Given the description of an element on the screen output the (x, y) to click on. 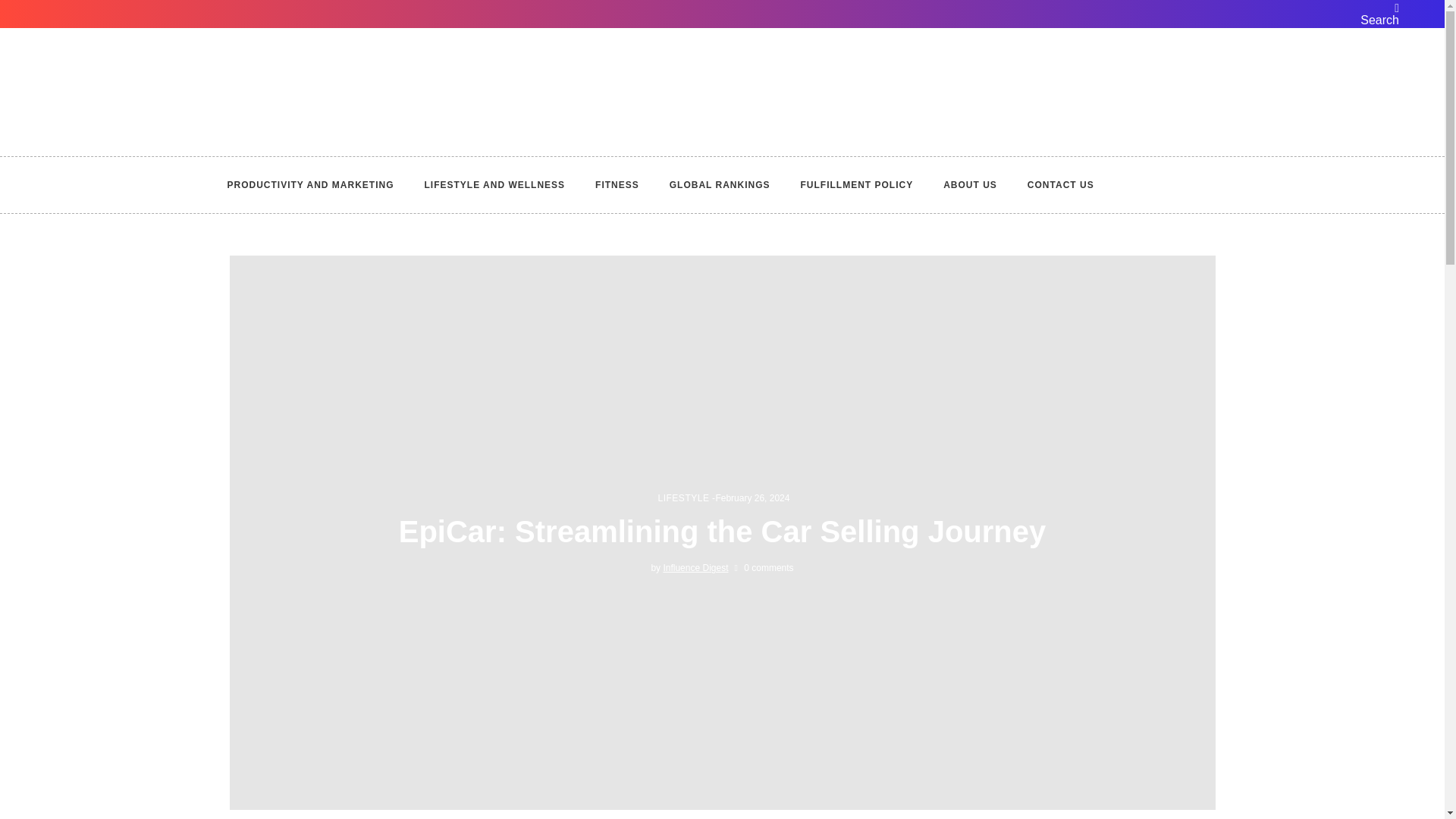
February 26, 2024 (751, 498)
CONTACT US (1060, 184)
Search (1377, 14)
0 comments (763, 567)
LIFESTYLE AND WELLNESS (494, 184)
FULFILLMENT POLICY (857, 184)
GLOBAL RANKINGS (719, 184)
Influence Digest (695, 567)
LIFESTYLE (684, 498)
FITNESS (616, 184)
